Given the description of an element on the screen output the (x, y) to click on. 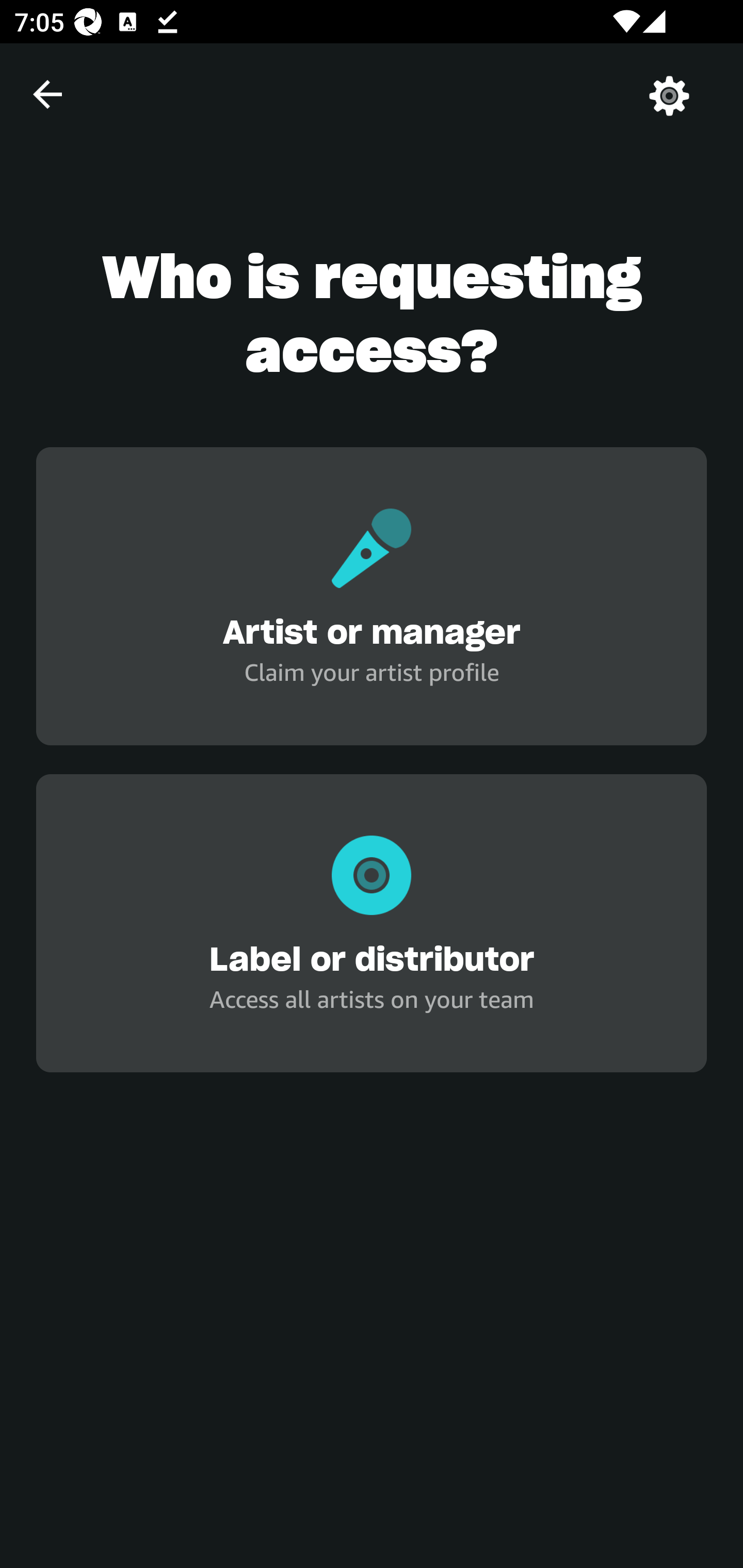
ArtistSelect, back (47, 93)
